Given the description of an element on the screen output the (x, y) to click on. 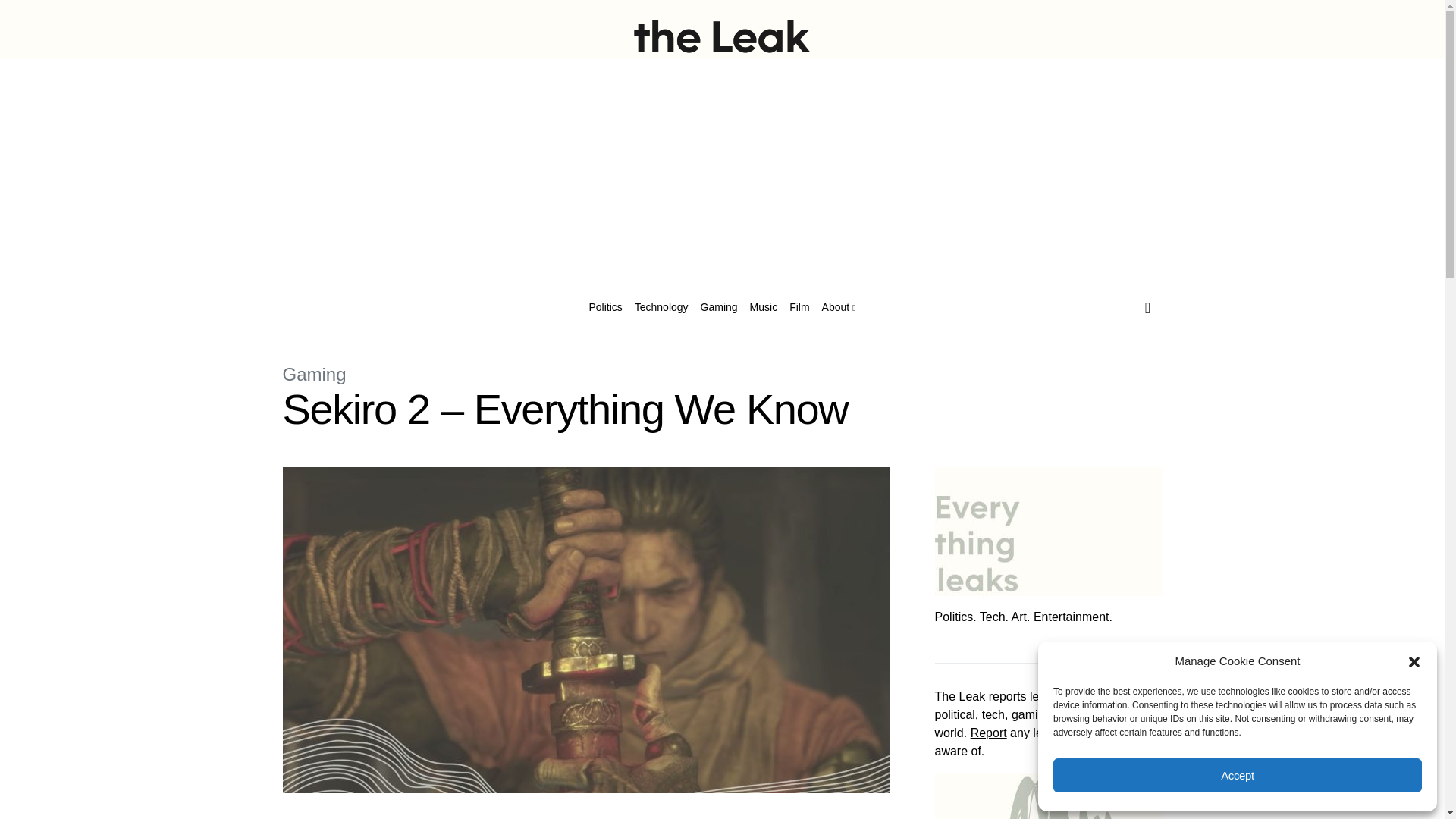
Technology (661, 307)
Accept (1237, 775)
Gaming (719, 307)
Gaming (314, 373)
